Given the description of an element on the screen output the (x, y) to click on. 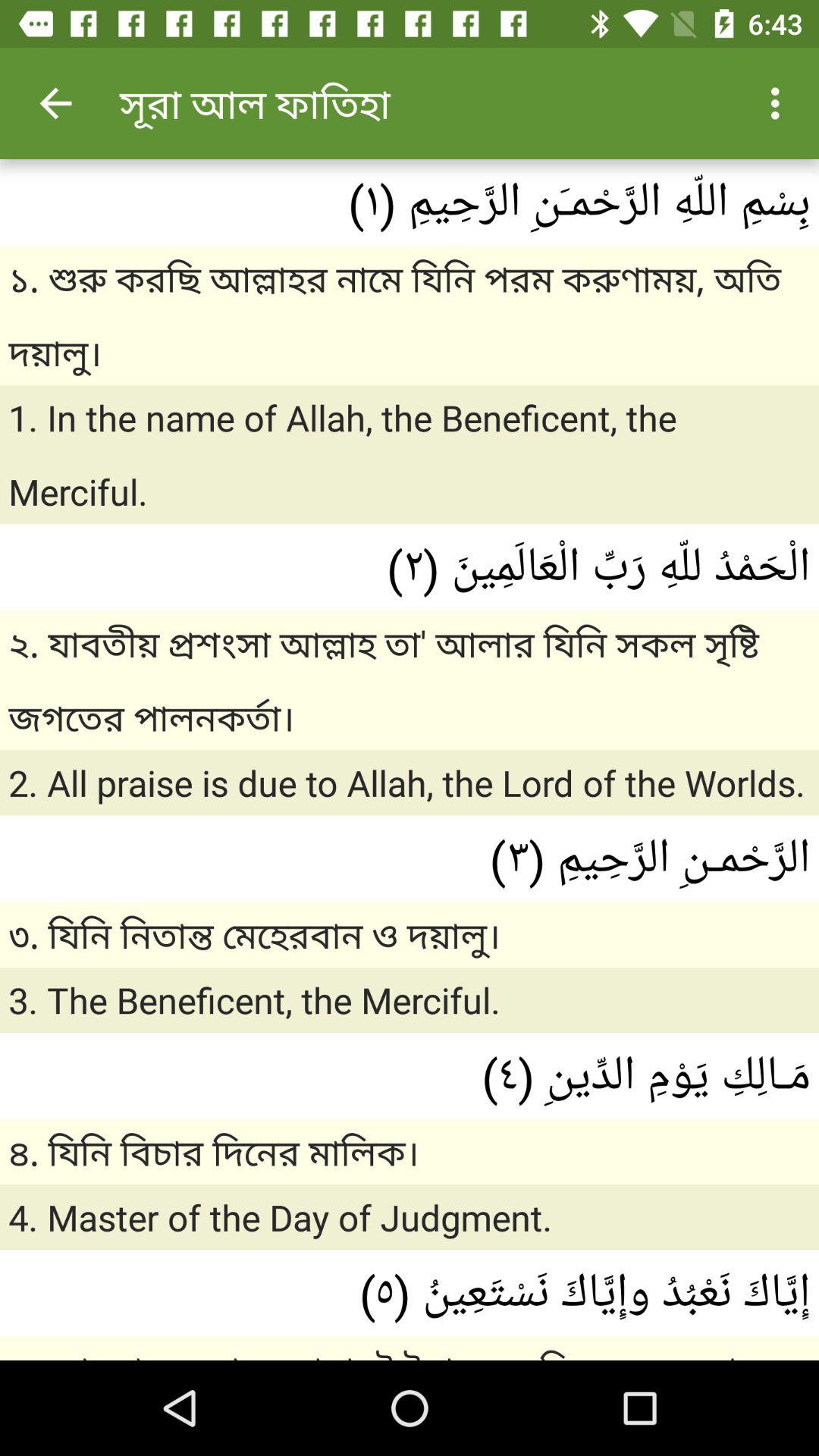
choose the icon at the top right corner (779, 103)
